Given the description of an element on the screen output the (x, y) to click on. 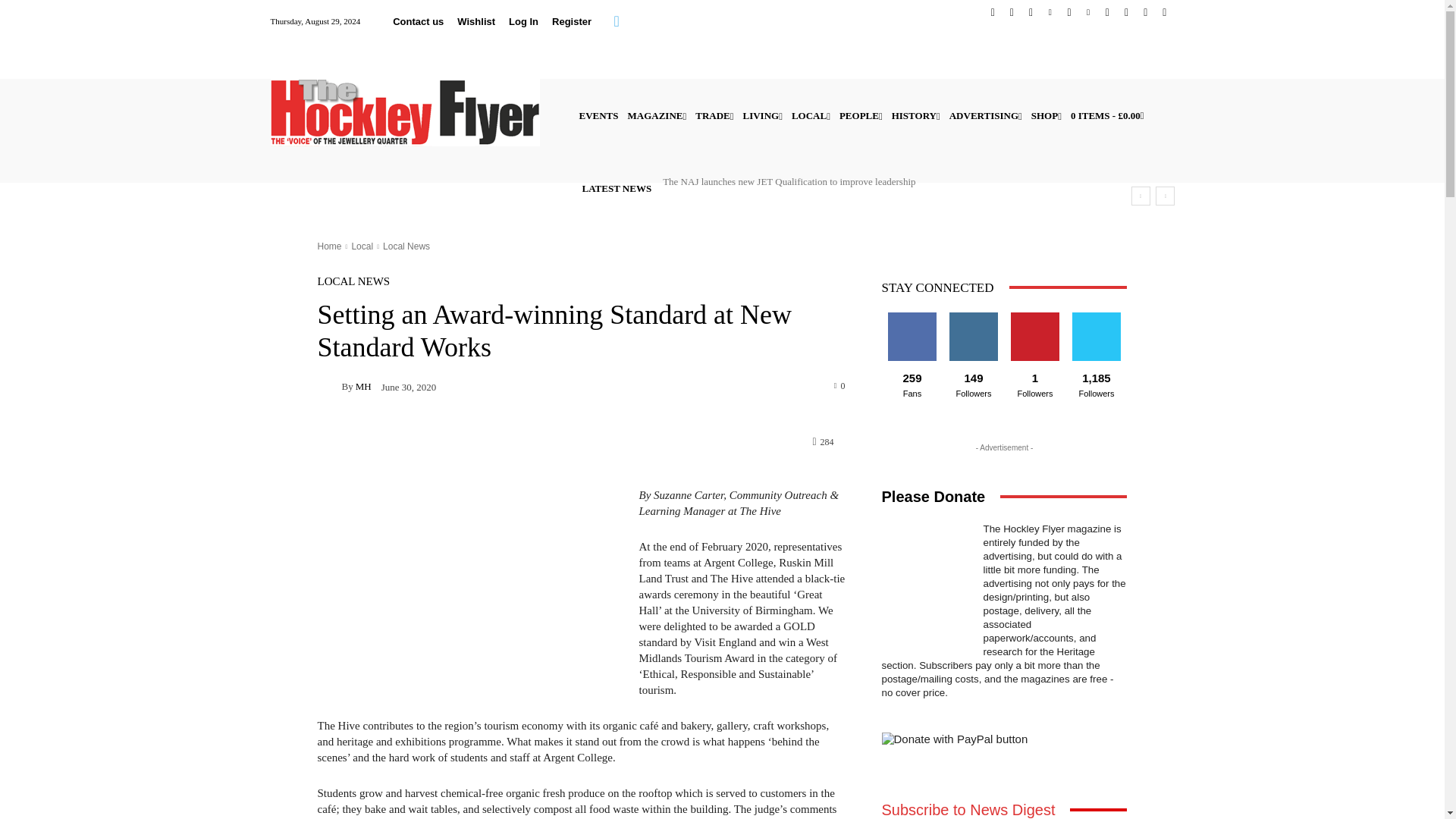
Facebook (993, 12)
Instagram (1031, 12)
Flickr (1012, 12)
